Given the description of an element on the screen output the (x, y) to click on. 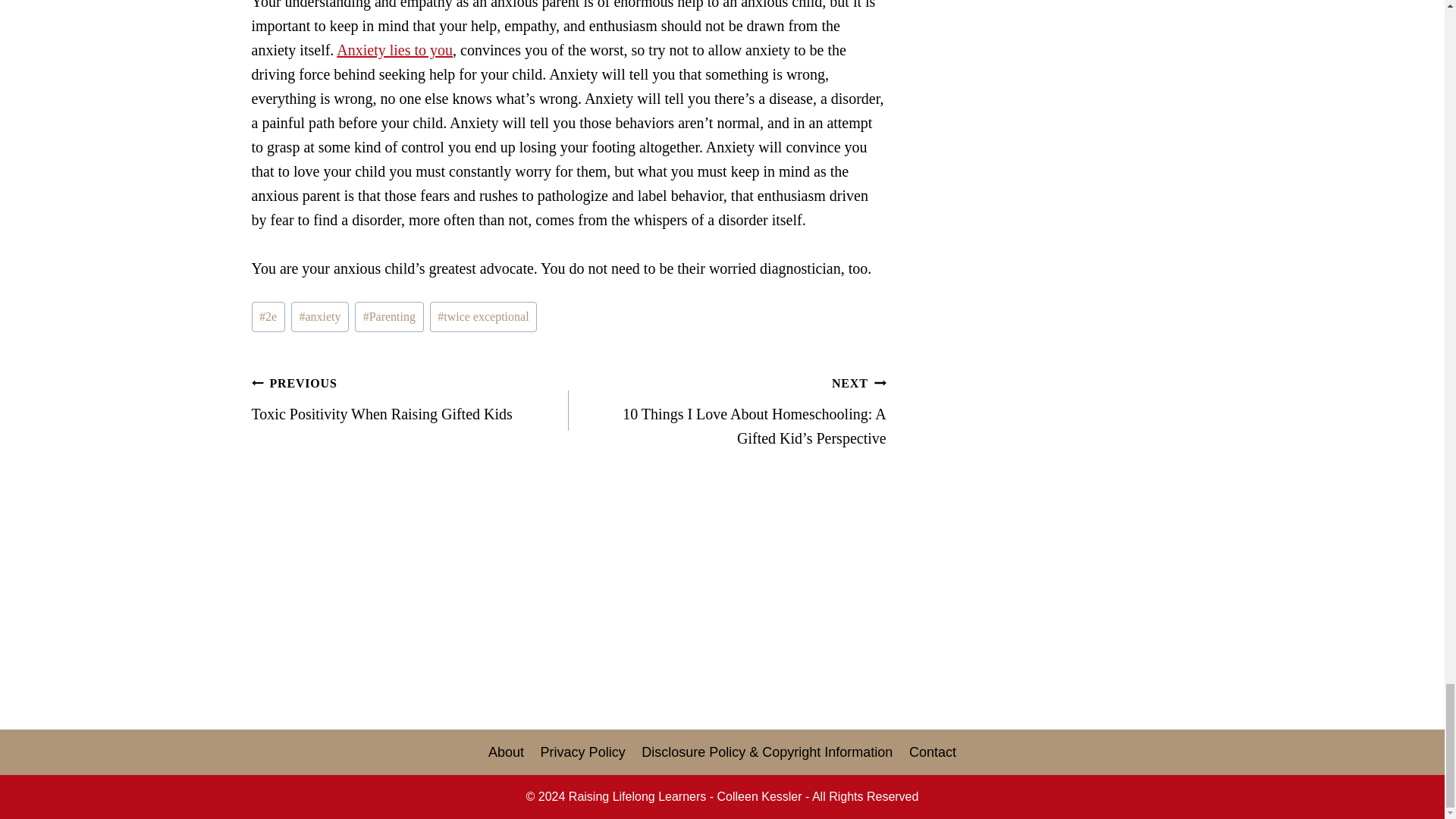
twice exceptional (483, 317)
anxiety (320, 317)
2e (268, 317)
Anxiety lies to you (394, 49)
Parenting (410, 397)
